Given the description of an element on the screen output the (x, y) to click on. 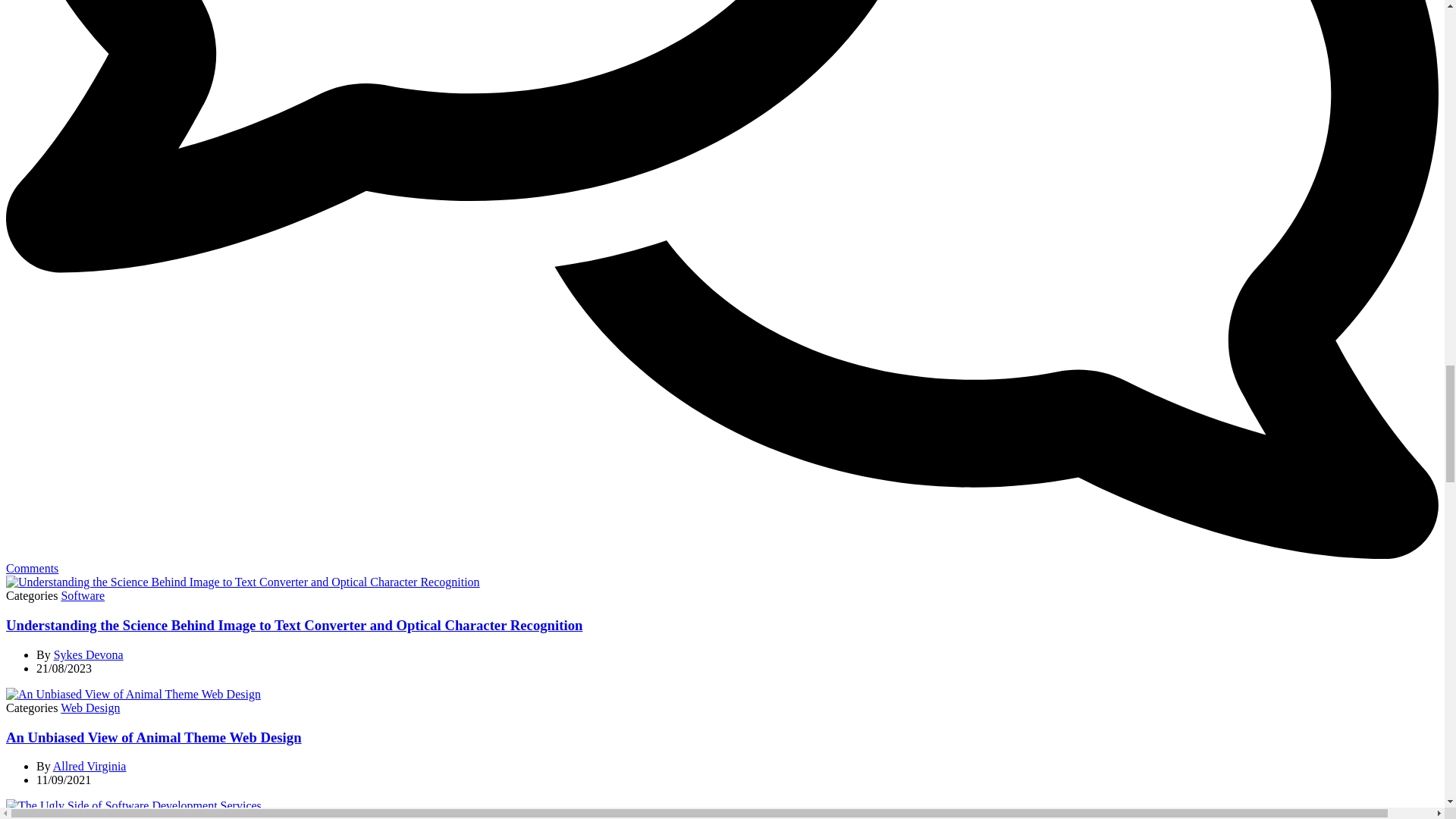
Software (82, 816)
Web Design (90, 707)
An Unbiased View of Animal Theme Web Design (153, 737)
The Ugly Side of Software Development Services (133, 806)
Sykes Devona (88, 654)
An Unbiased View of Animal Theme Web Design (132, 694)
Software (82, 594)
Allred Virginia (89, 766)
Comments (721, 560)
